Given the description of an element on the screen output the (x, y) to click on. 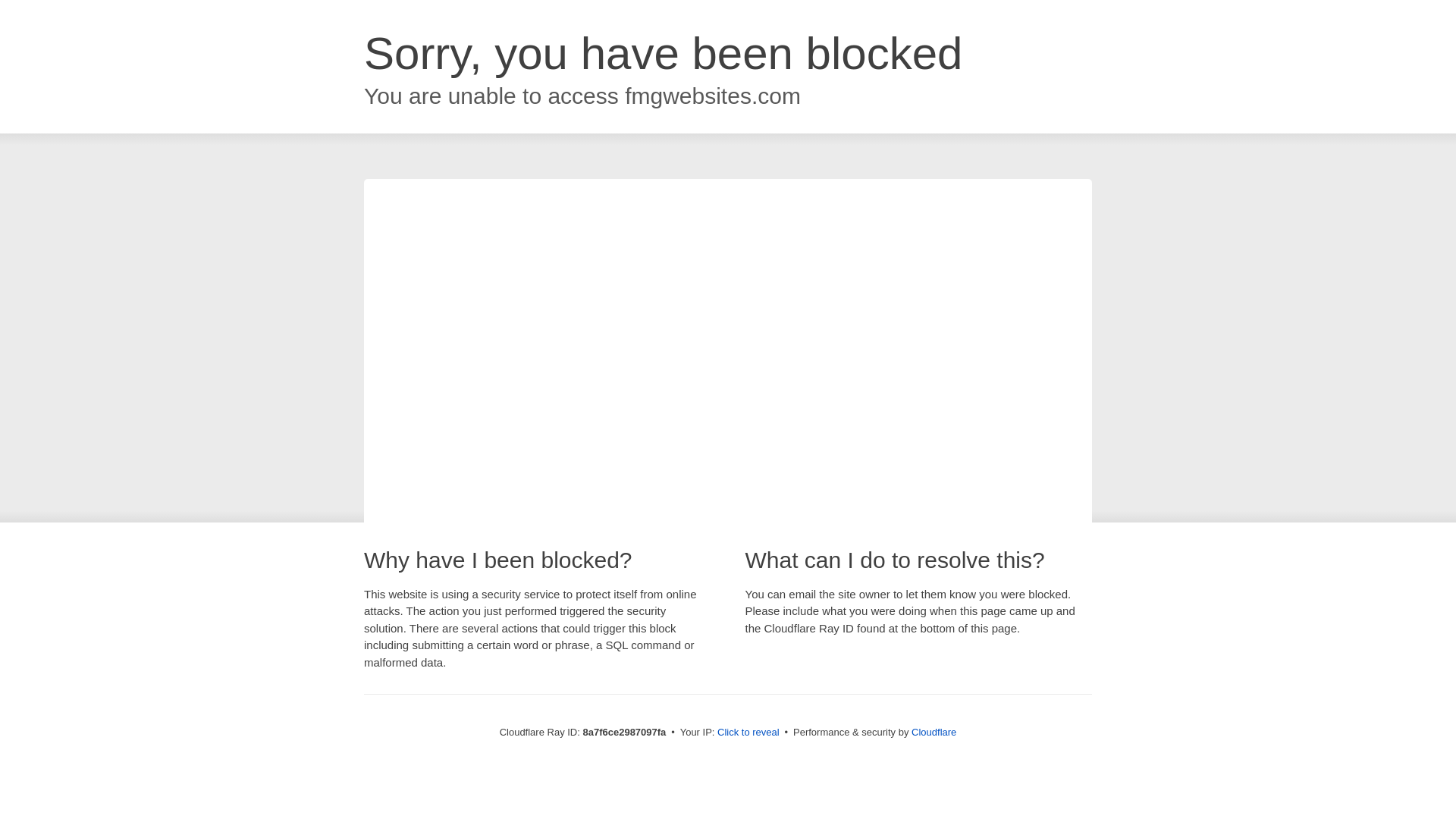
Click to reveal (747, 732)
Cloudflare (933, 731)
